Given the description of an element on the screen output the (x, y) to click on. 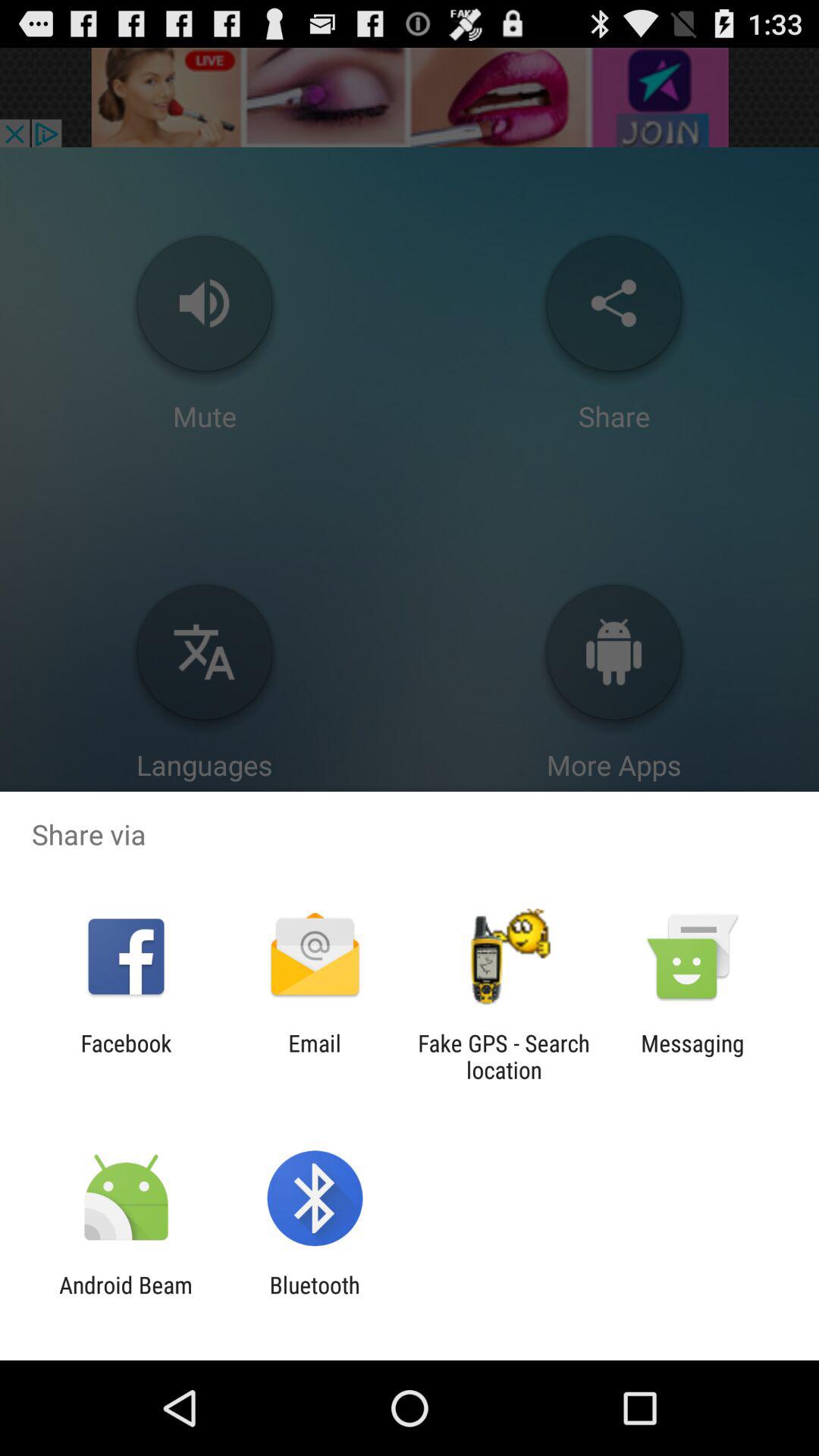
choose messaging at the bottom right corner (692, 1056)
